Given the description of an element on the screen output the (x, y) to click on. 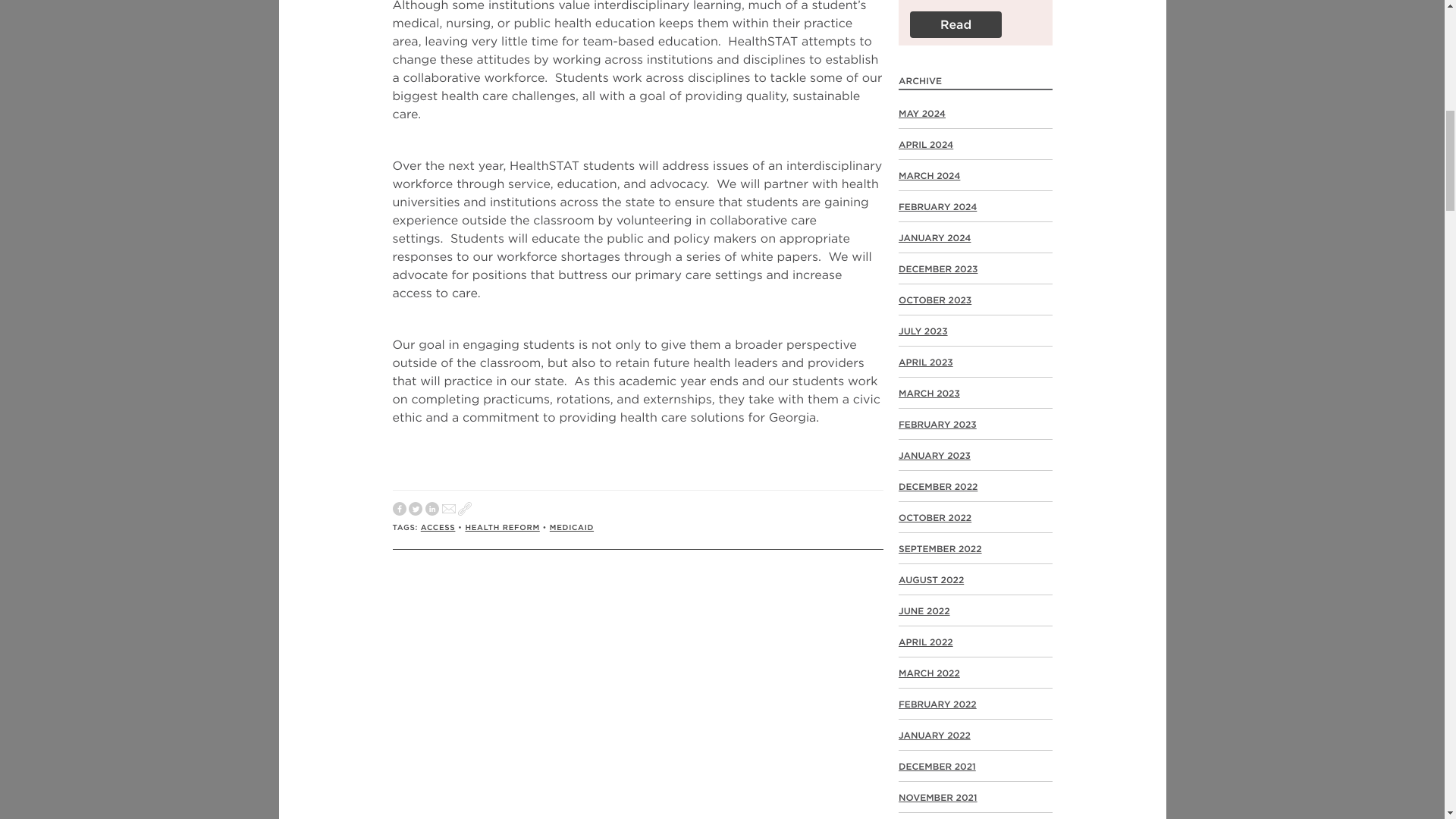
Share on linkedin (432, 509)
Share on facebook (399, 509)
Share on email (448, 509)
Share on twitter (415, 509)
Share on link (464, 509)
